Given the description of an element on the screen output the (x, y) to click on. 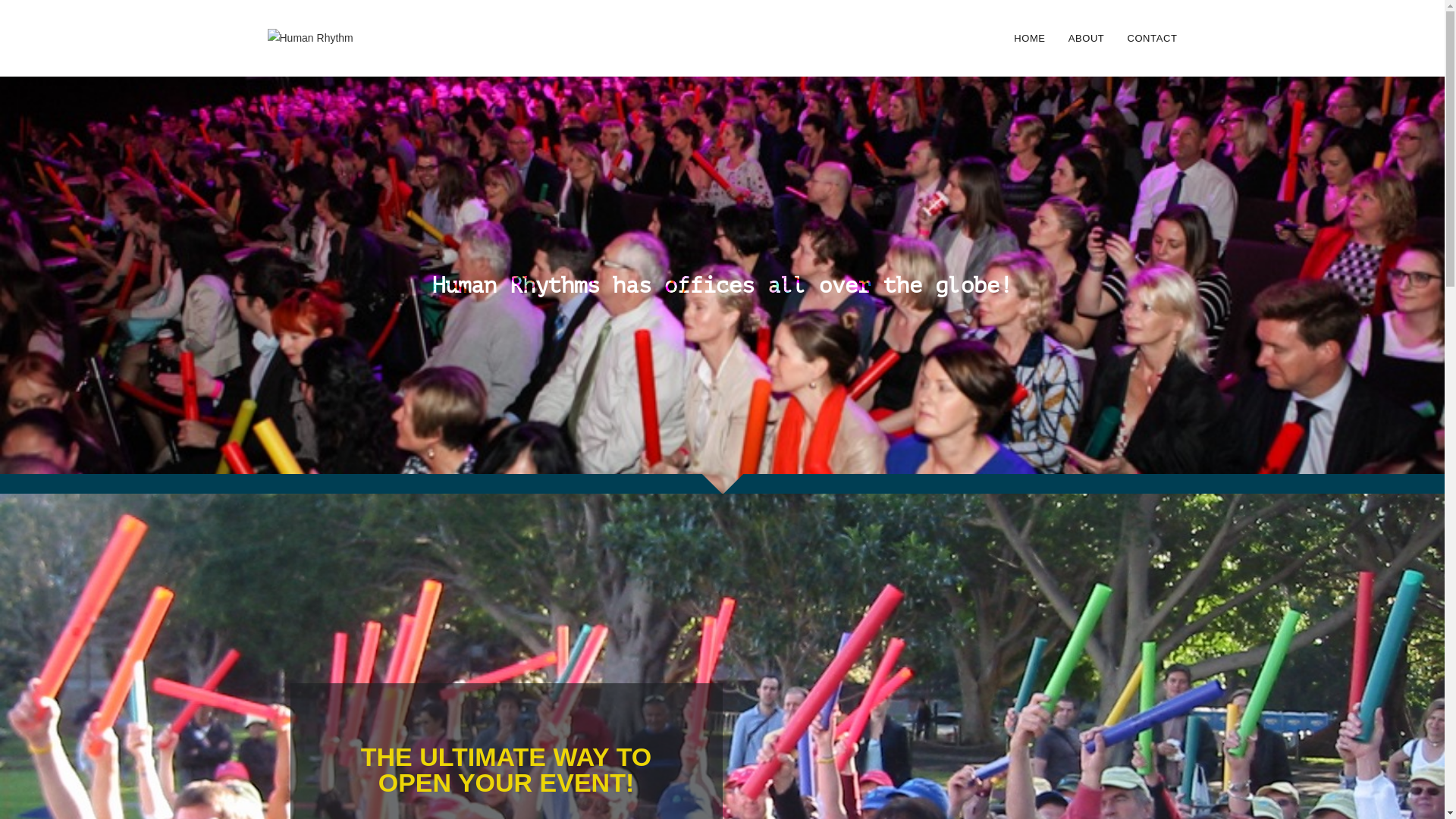
ABOUT Element type: text (1086, 38)
CONTACT Element type: text (1151, 38)
HOME Element type: text (1029, 38)
